Given the description of an element on the screen output the (x, y) to click on. 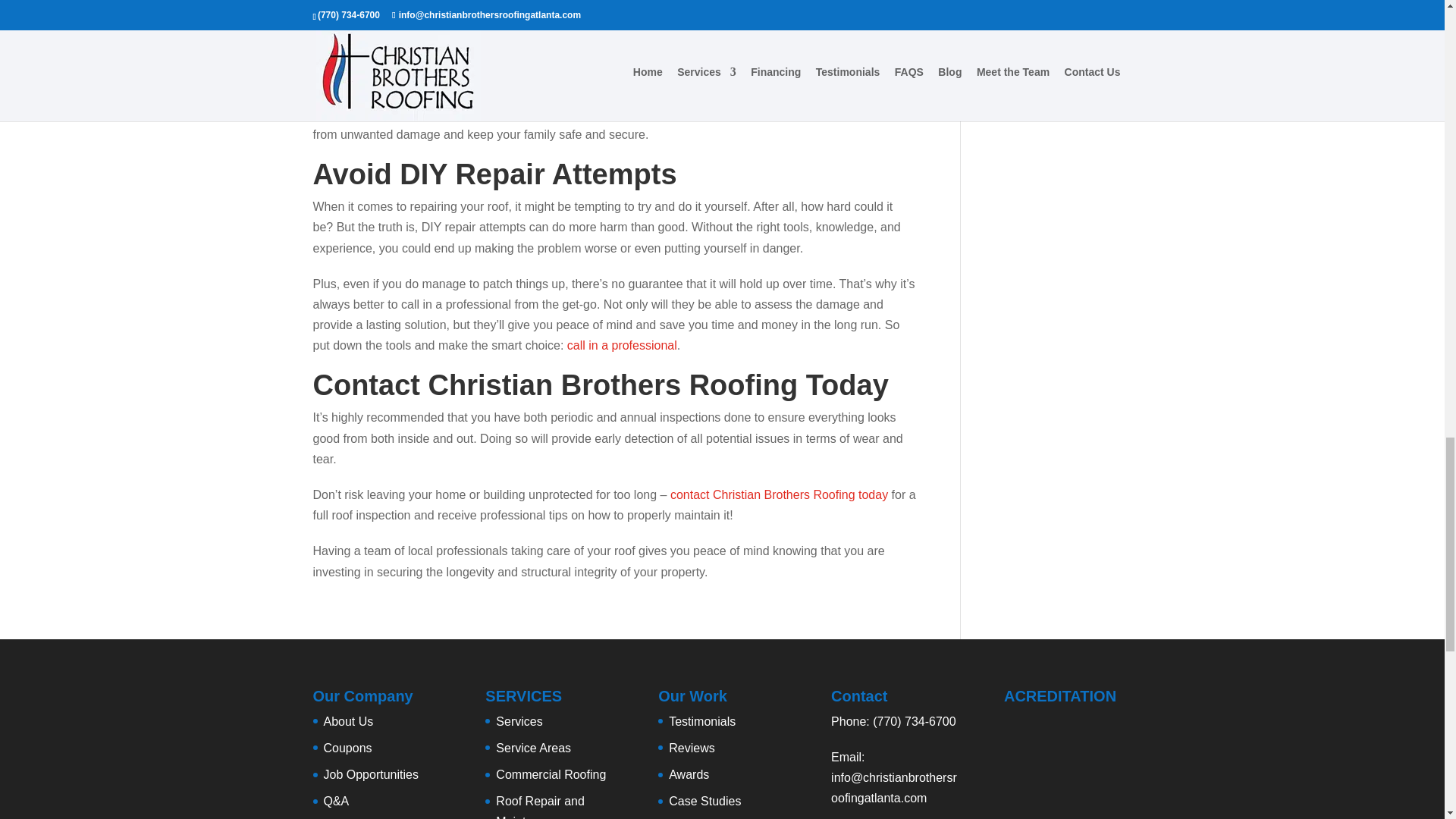
call in a professional (622, 345)
Coupons (347, 748)
Job Opportunities (370, 774)
About Us (347, 721)
contact Christian Brothers Roofing today (778, 494)
